Given the description of an element on the screen output the (x, y) to click on. 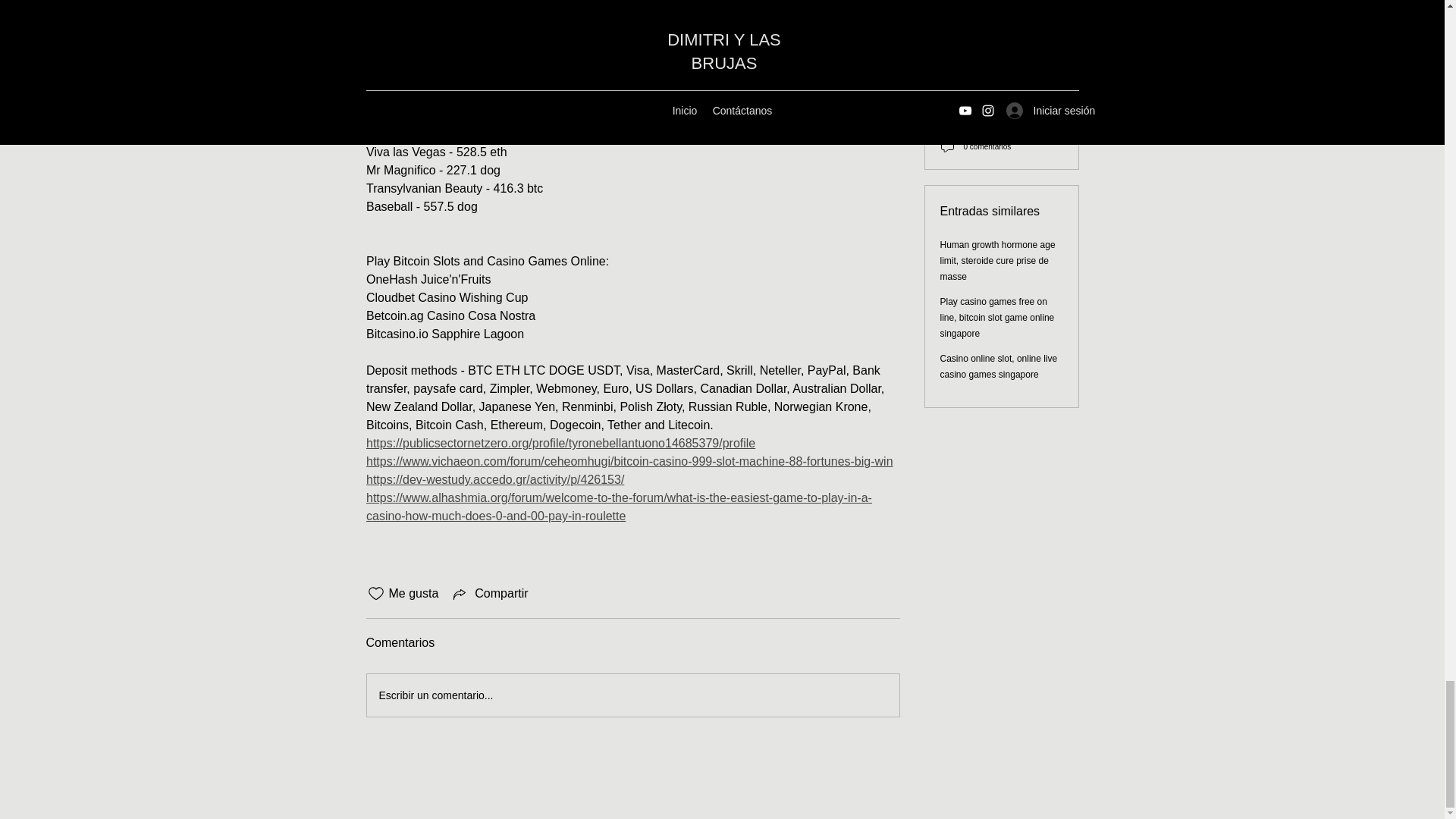
Escribir un comentario... (632, 695)
Compartir (488, 593)
